Given the description of an element on the screen output the (x, y) to click on. 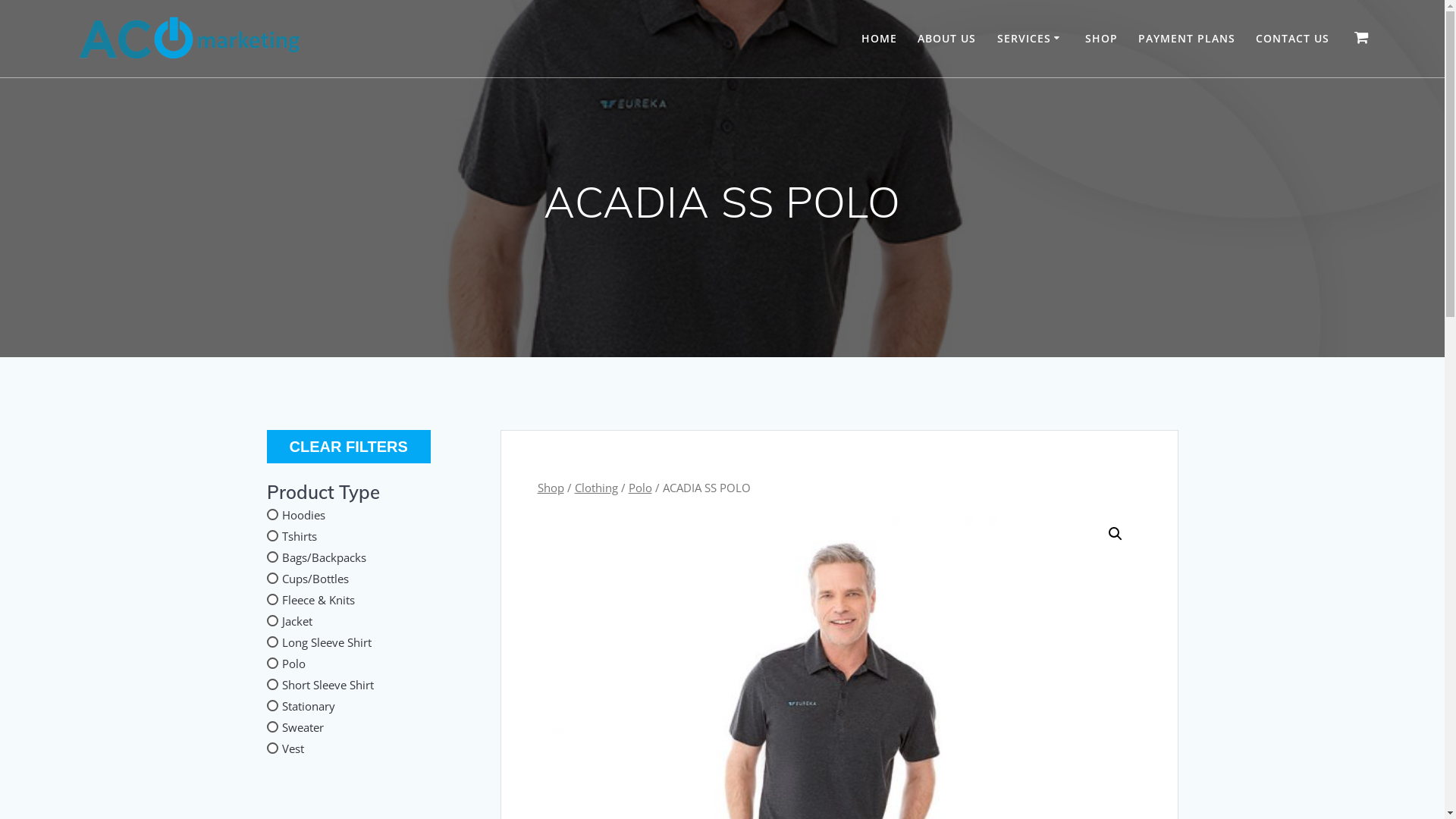
Polo Element type: text (639, 487)
Shop Element type: text (549, 487)
SERVICES Element type: text (1030, 38)
ABOUT US Element type: text (946, 38)
PAYMENT PLANS Element type: text (1186, 38)
CONTACT US Element type: text (1292, 38)
HOME Element type: text (879, 38)
CLEAR FILTERS Element type: text (348, 446)
Clothing Element type: text (596, 487)
SHOP Element type: text (1101, 38)
